Given the description of an element on the screen output the (x, y) to click on. 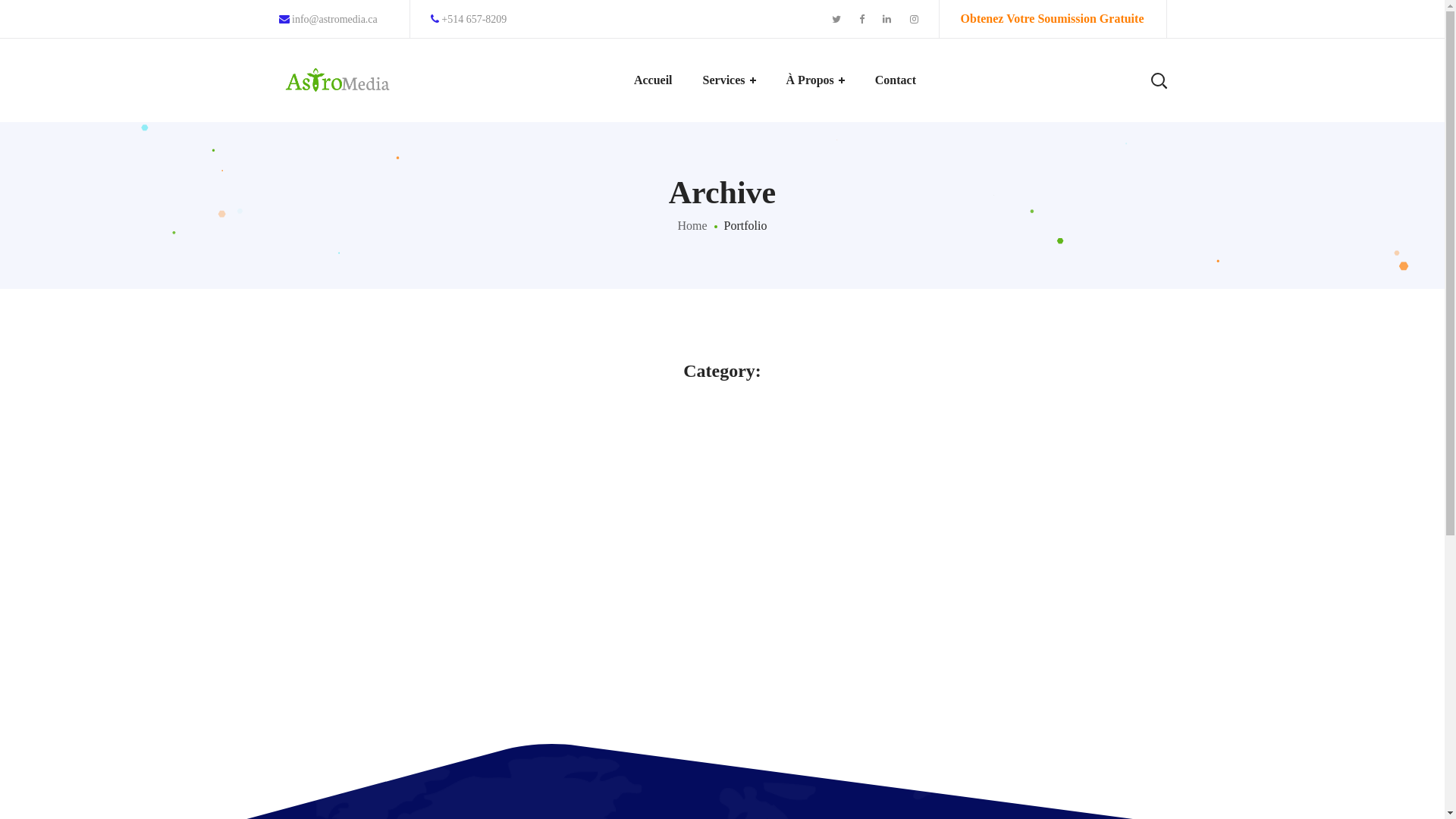
Home Element type: text (692, 225)
Accueil Element type: text (652, 80)
Contact Element type: text (895, 80)
Services Element type: text (729, 80)
+514 657-8209 Element type: text (468, 19)
Search Element type: text (1110, 152)
info@astromedia.ca Element type: text (328, 19)
Obtenez Votre Soumission Gratuite Element type: text (1052, 18)
Search Element type: text (1110, 30)
